Given the description of an element on the screen output the (x, y) to click on. 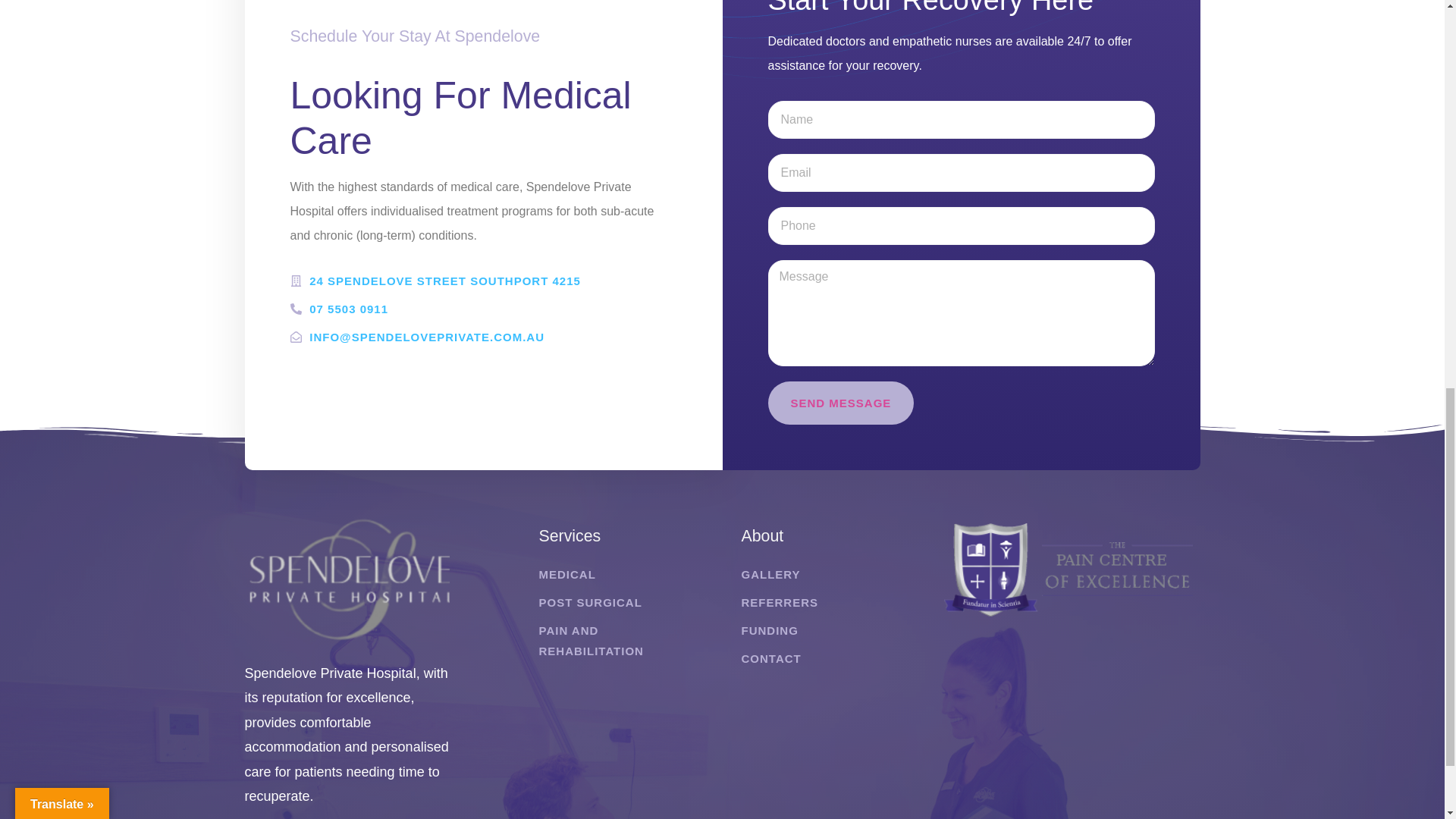
07 5503 0911 (483, 308)
FUNDING (769, 629)
SEND MESSAGE (840, 403)
24 SPENDELOVE STREET SOUTHPORT 4215 (483, 281)
PAIN AND REHABILITATION (614, 639)
MEDICAL (566, 574)
REFERRERS (779, 602)
CONTACT (771, 658)
GALLERY (770, 574)
POST SURGICAL (590, 602)
